Given the description of an element on the screen output the (x, y) to click on. 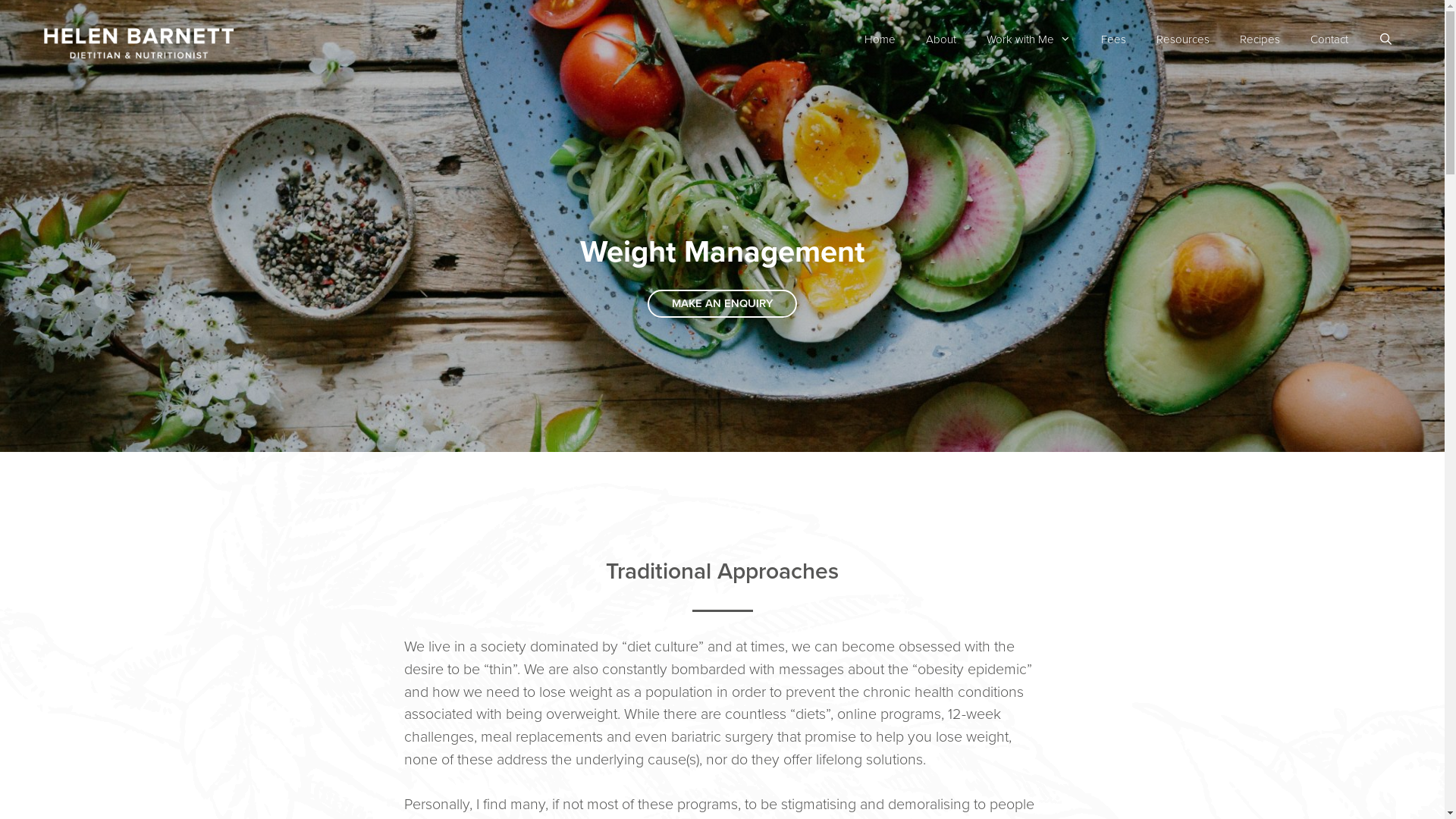
Fees Element type: text (1113, 39)
Recipes Element type: text (1259, 39)
Contact Element type: text (1329, 39)
Work with Me Element type: text (1028, 39)
About Element type: text (940, 39)
Resources Element type: text (1182, 39)
MAKE AN ENQUIRY Element type: text (721, 303)
Home Element type: text (879, 39)
